Given the description of an element on the screen output the (x, y) to click on. 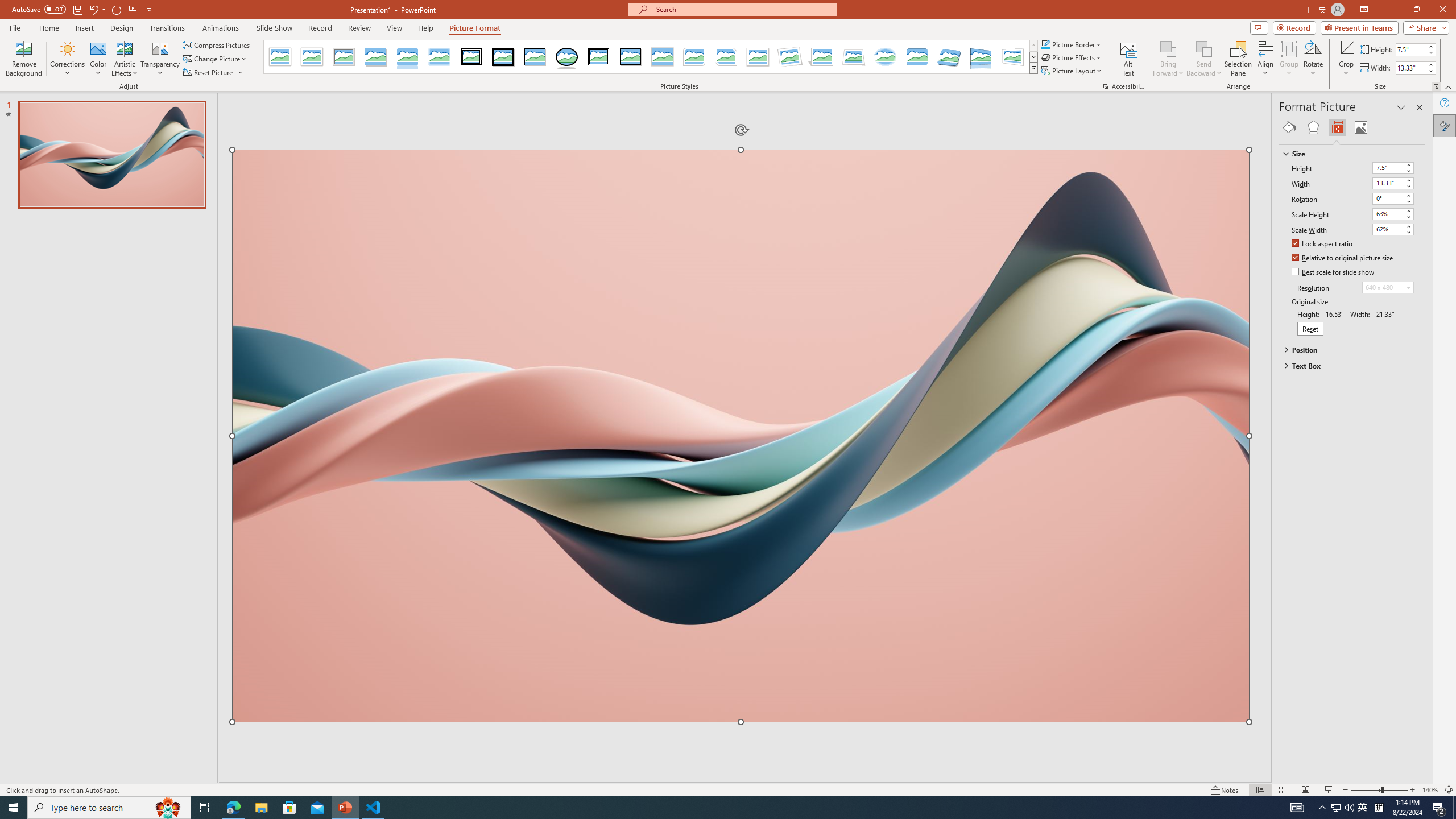
Reset Picture (214, 72)
Ribbon Display Options (1364, 9)
Design (122, 28)
Width (1393, 183)
Artistic Effects (124, 58)
Insert (83, 28)
Task Pane Options (1400, 107)
Soft Edge Rectangle (439, 56)
Corrections (67, 58)
Class: NetUIGalleryContainer (1352, 126)
Drop Shadow Rectangle (375, 56)
Class: NetUIImage (1034, 68)
Color (97, 58)
From Beginning (133, 9)
Snip Diagonal Corner, White (726, 56)
